Given the description of an element on the screen output the (x, y) to click on. 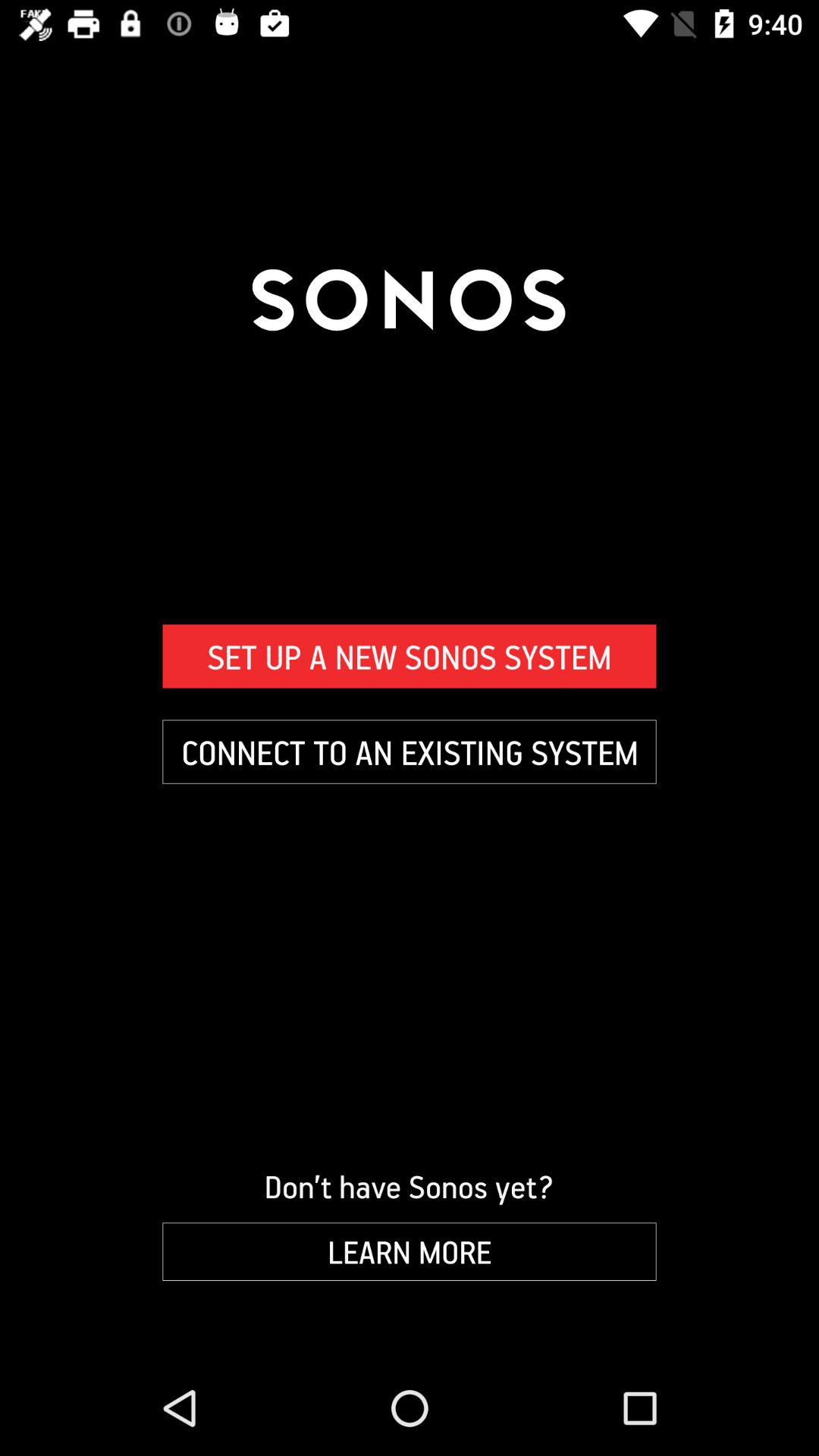
flip to connect to an item (409, 751)
